Given the description of an element on the screen output the (x, y) to click on. 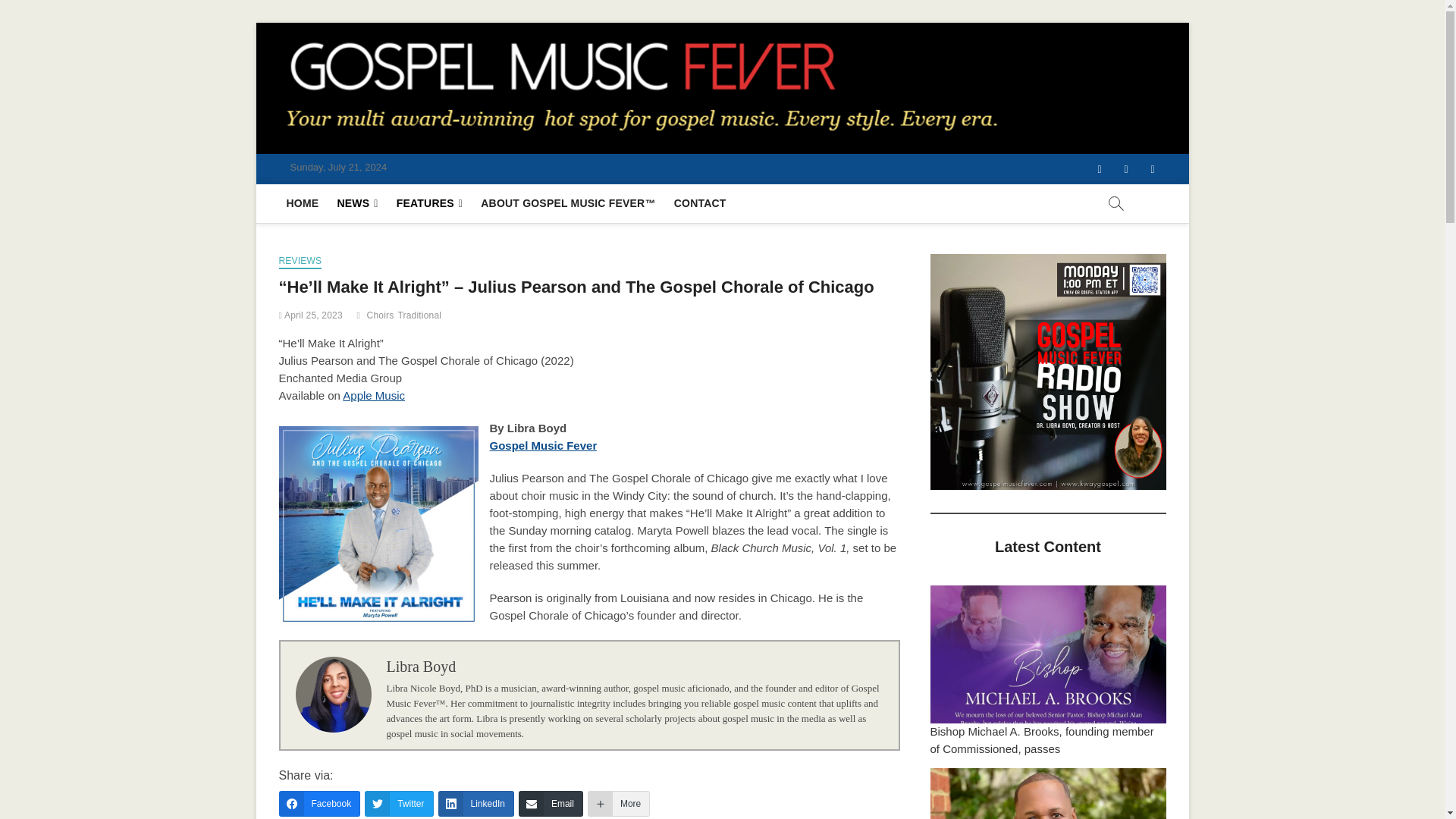
Libra Boyd (422, 666)
Twitter (398, 803)
Facebook (1099, 169)
FEATURES (429, 203)
Facebook (320, 803)
April 25, 2023 (310, 315)
April 25, 2023 (310, 315)
Gospel Music Fever (542, 445)
Twitter (1126, 169)
NEWS (357, 203)
LinkedIn (475, 803)
HOME (302, 202)
Choirs (381, 317)
More (618, 803)
